Given the description of an element on the screen output the (x, y) to click on. 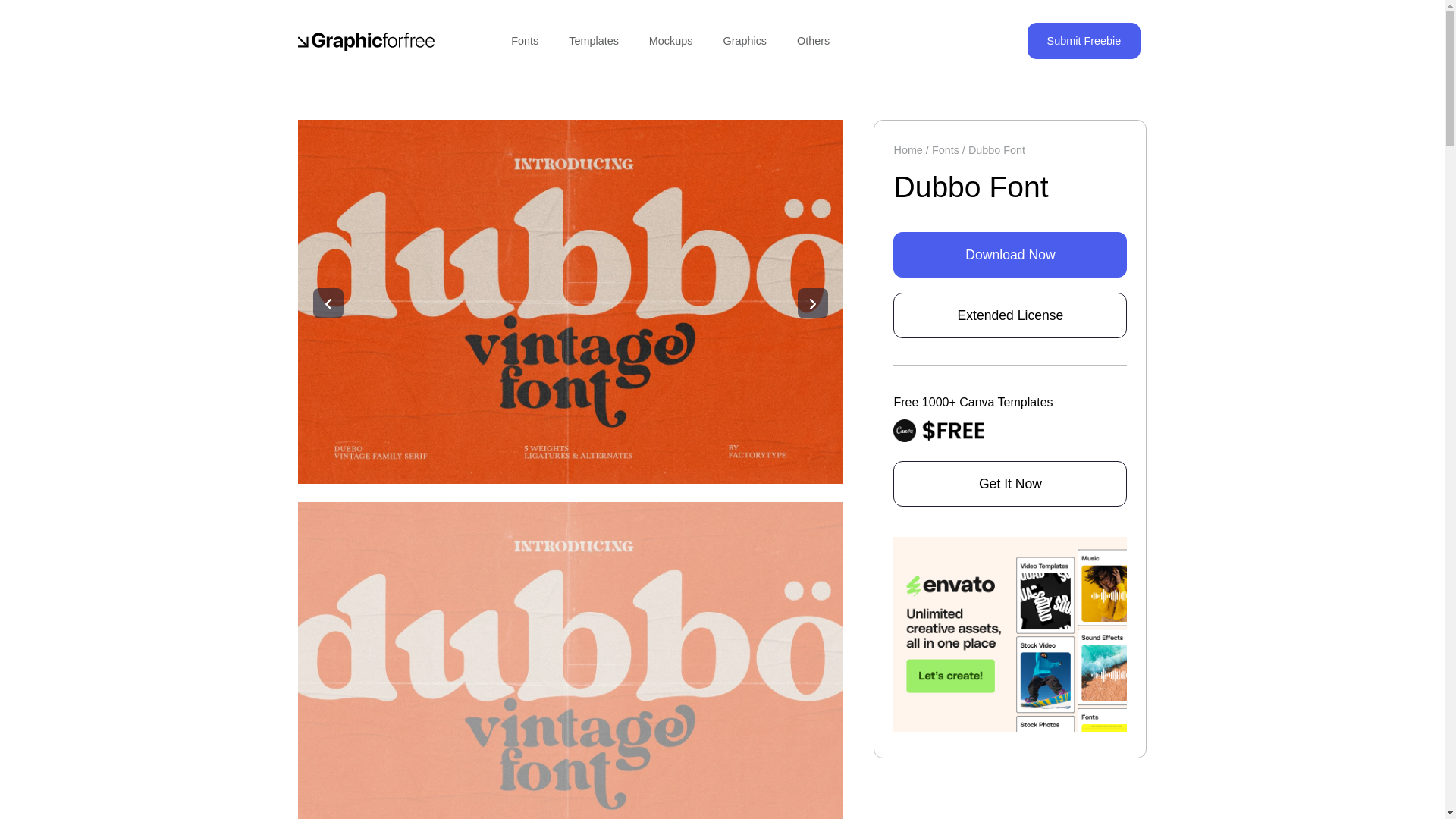
Others (812, 40)
Fonts (524, 40)
Mockups (670, 40)
Graphics (744, 40)
Templates (593, 40)
